Given the description of an element on the screen output the (x, y) to click on. 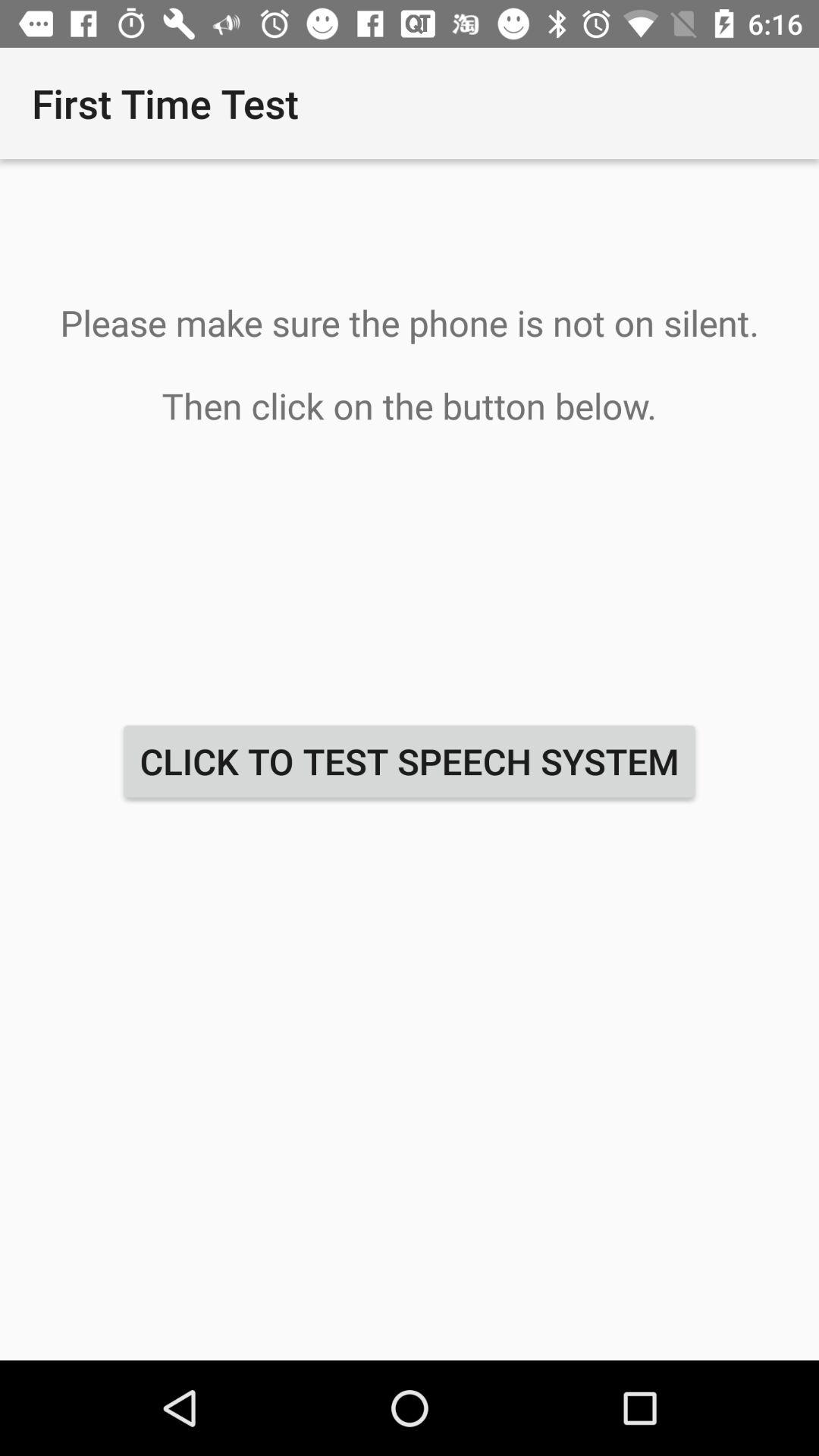
select click to test at the center (409, 761)
